Given the description of an element on the screen output the (x, y) to click on. 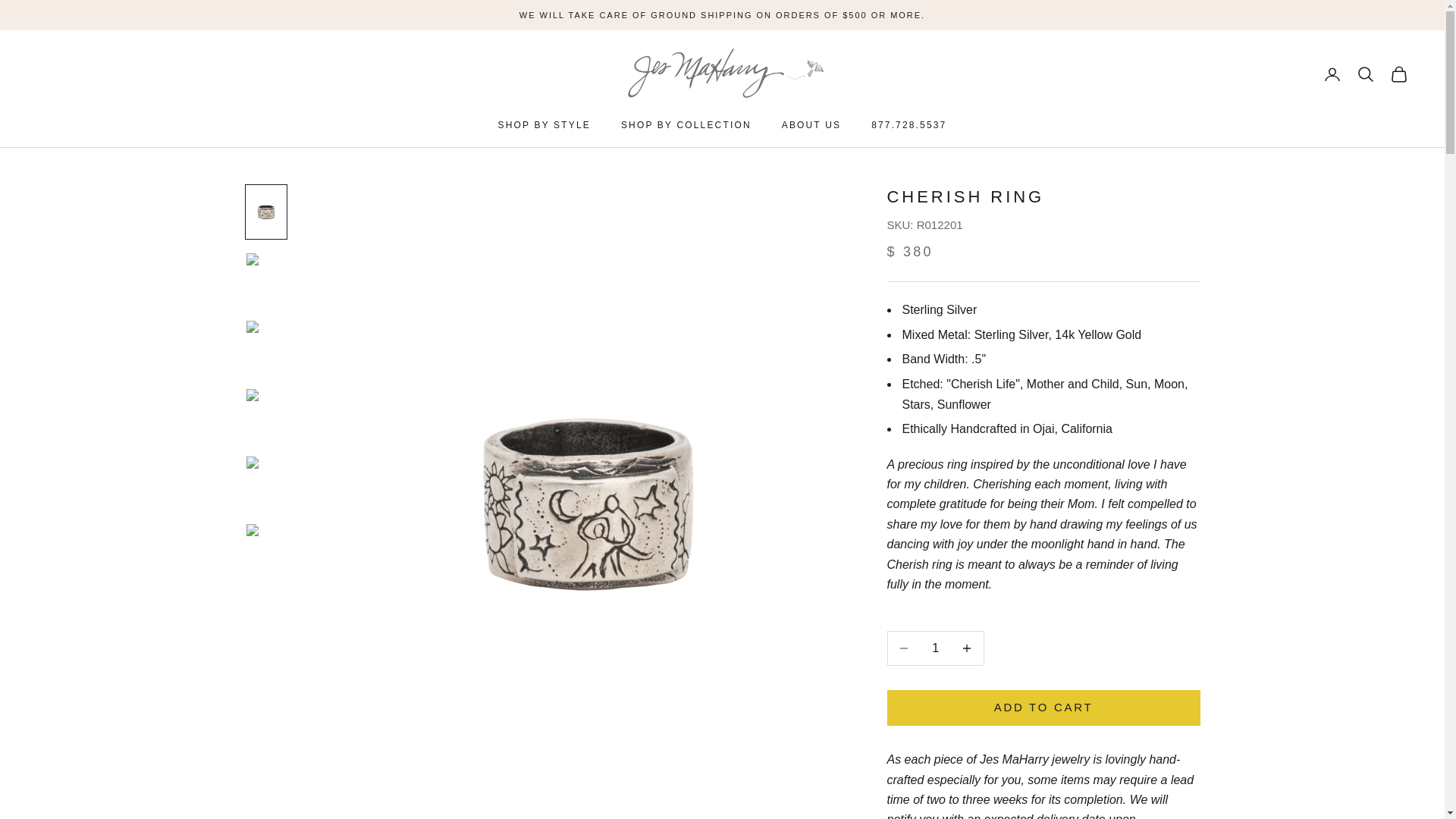
1 (935, 648)
Jes MaHarry (721, 74)
Open search (1365, 74)
877.728.5537 (908, 124)
ABOUT US (811, 124)
Open cart (1398, 74)
Open account page (1331, 74)
